Given the description of an element on the screen output the (x, y) to click on. 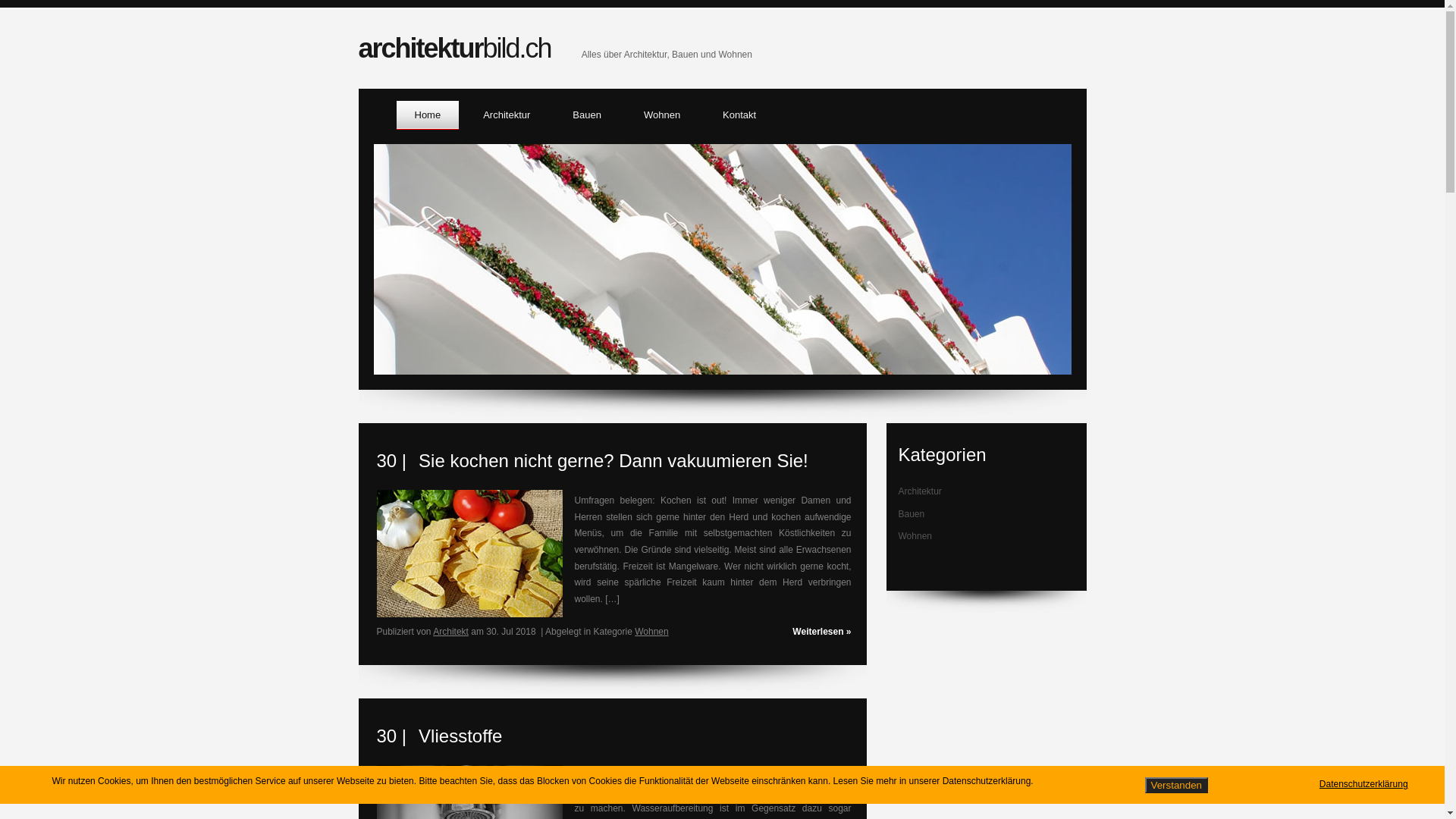
Bauen Element type: text (586, 114)
30 | Element type: text (391, 455)
Wohnen Element type: text (661, 114)
Home Element type: text (426, 114)
Wohnen Element type: text (911, 535)
Wohnen Element type: text (651, 631)
30 | Element type: text (391, 730)
Architektur Element type: text (506, 114)
Bauen Element type: text (907, 513)
Kontakt Element type: text (739, 114)
Architektur Element type: text (916, 491)
Verstanden Element type: text (1176, 785)
Architekt Element type: text (450, 631)
